Given the description of an element on the screen output the (x, y) to click on. 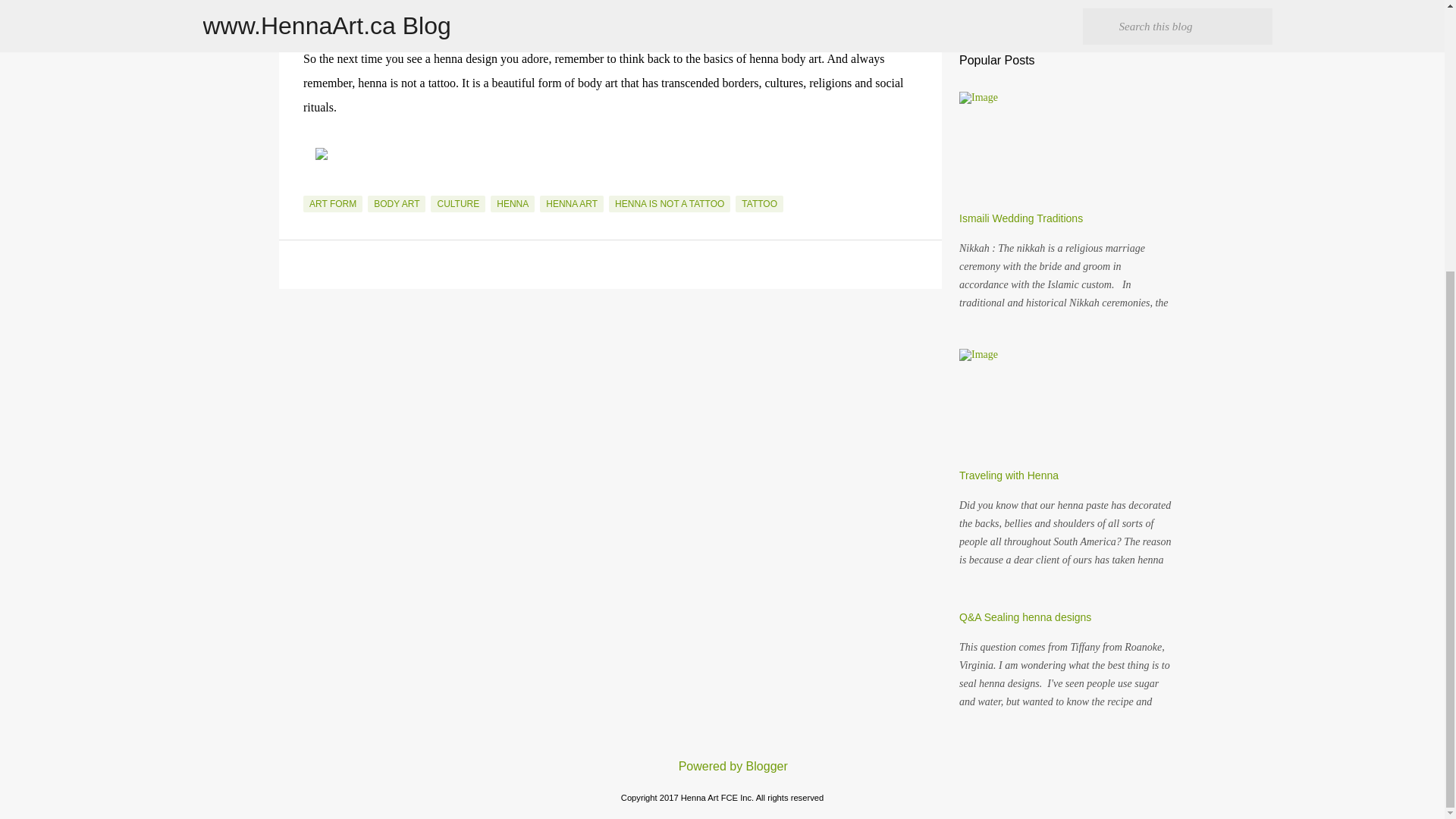
TATTOO (759, 203)
HENNA ART (572, 203)
HENNA IS NOT A TATTOO (669, 203)
Traveling with Henna (1008, 475)
Powered by Blogger (721, 766)
HENNA (512, 203)
Ismaili Wedding Traditions (1021, 218)
ART FORM (332, 203)
BODY ART (396, 203)
CULTURE (457, 203)
